Given the description of an element on the screen output the (x, y) to click on. 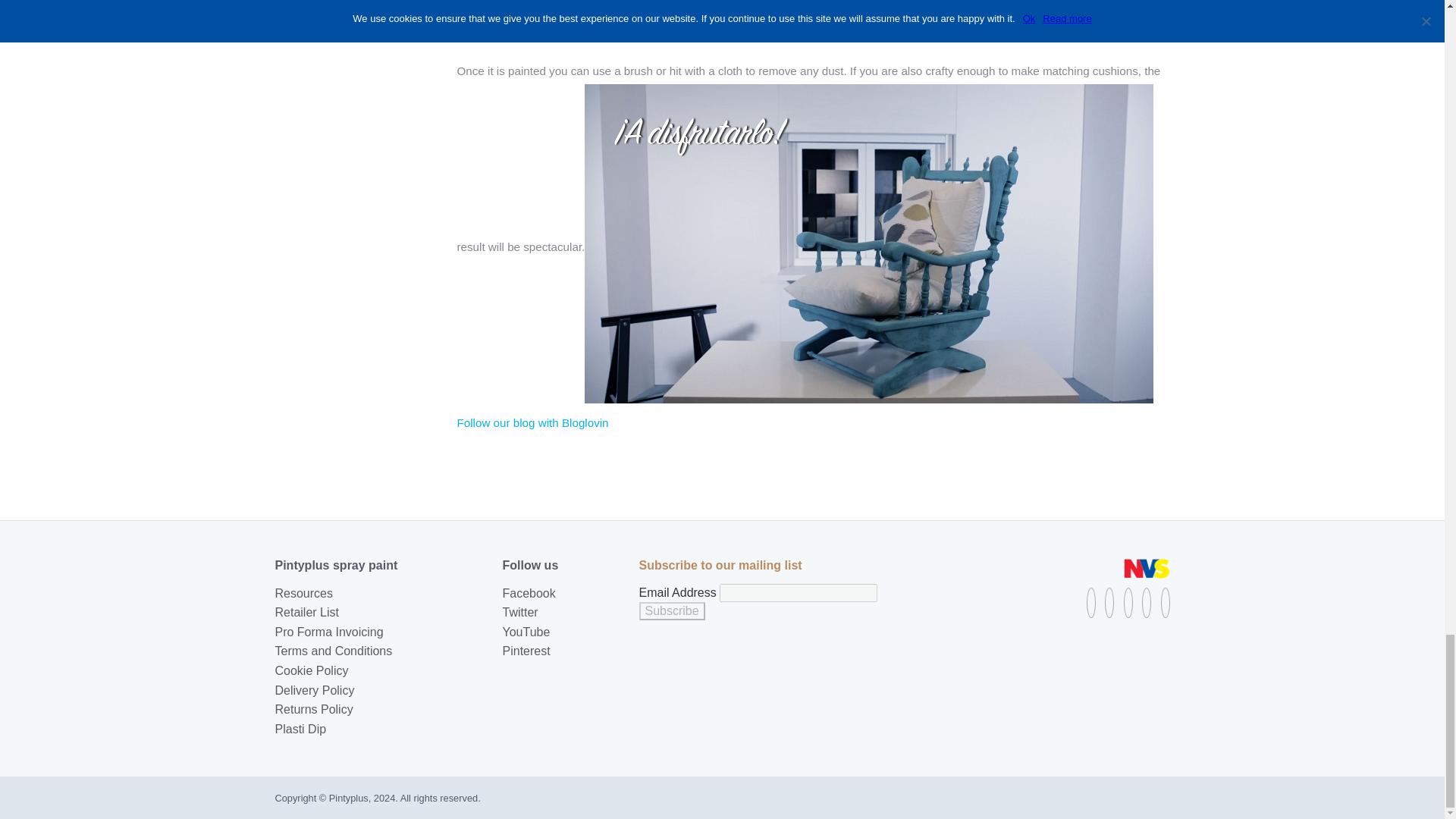
View our Pinterest page (1146, 602)
YouTube channel (1128, 602)
Novasol Spray on Instagram (1164, 602)
Subscribe (671, 610)
Delivery Policy (314, 689)
Resources (303, 593)
Retailer List (306, 612)
Cookie Policy (311, 670)
Find us on Facebook (1091, 602)
Novasol Spray on Twitter (1109, 602)
Follow our blog with Bloglovin (532, 422)
Pro Forma Invoicing (328, 631)
Terms and Conditions (333, 650)
